Given the description of an element on the screen output the (x, y) to click on. 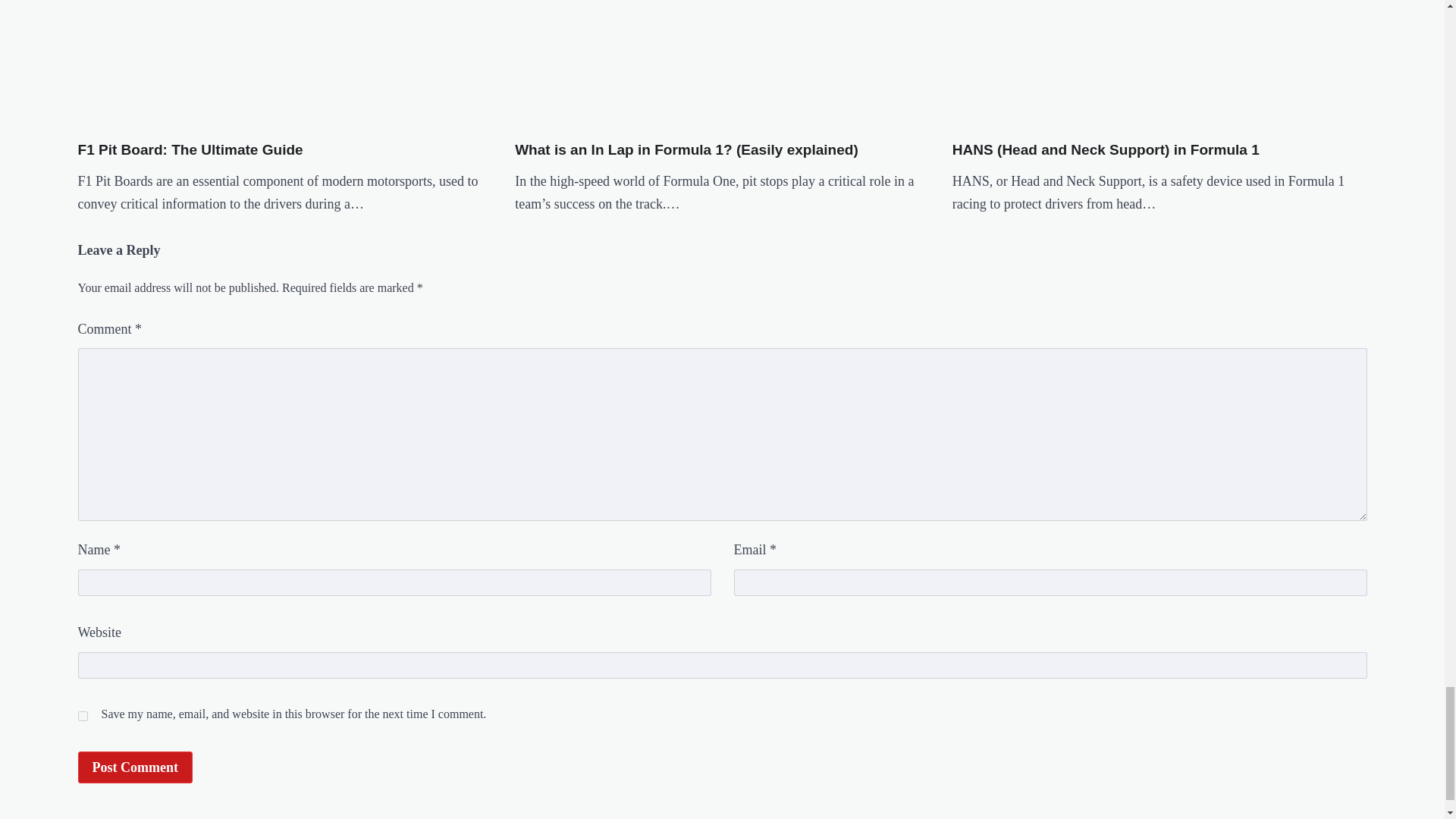
Post Comment (134, 766)
Post Comment (134, 766)
F1 Pit Board: The Ultimate Guide (189, 150)
yes (82, 716)
